Given the description of an element on the screen output the (x, y) to click on. 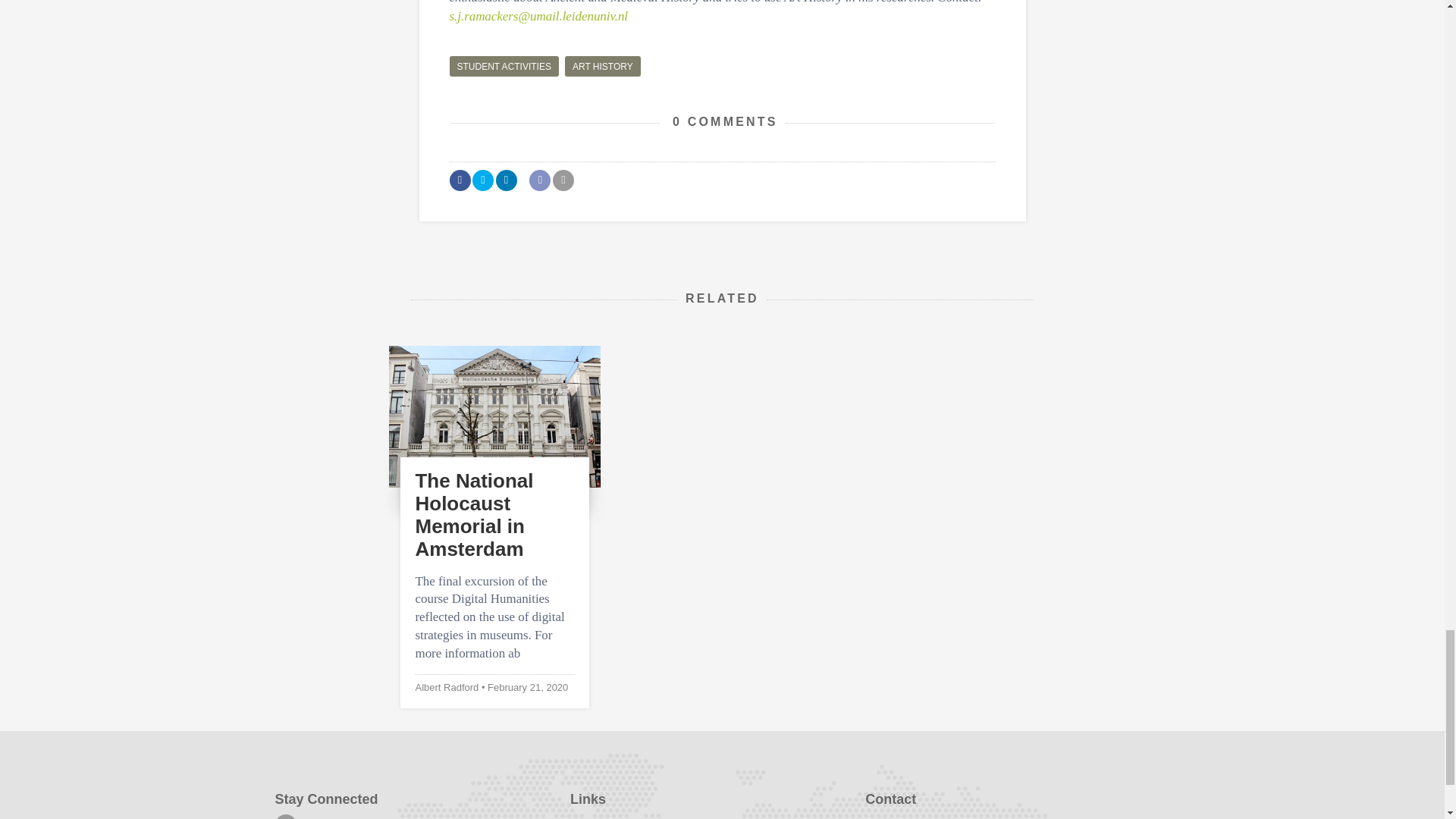
Print (563, 179)
STUDENT ACTIVITIES (502, 66)
ART HISTORY (602, 66)
